Given the description of an element on the screen output the (x, y) to click on. 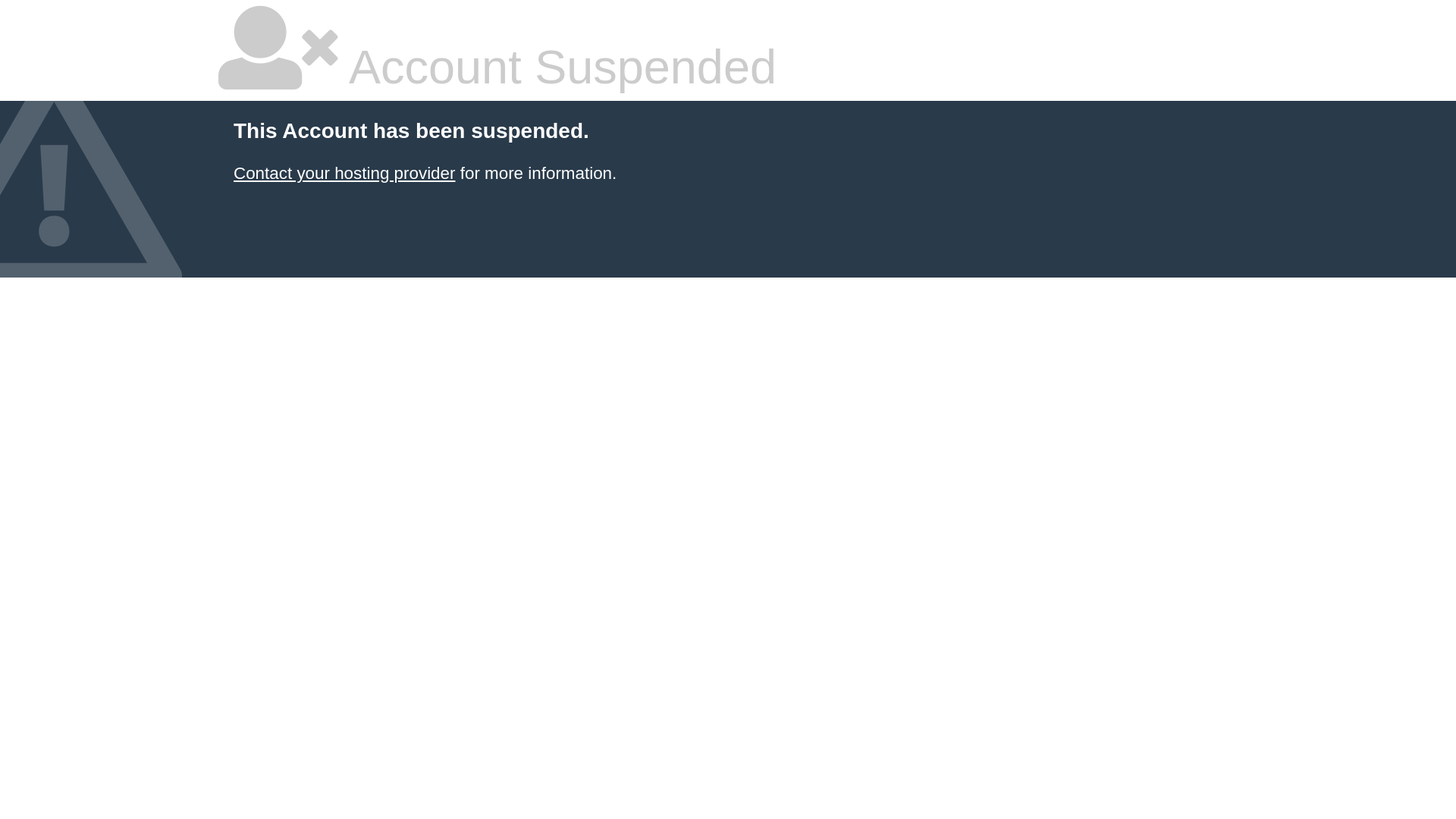
Contact your hosting provider Element type: text (344, 172)
